Given the description of an element on the screen output the (x, y) to click on. 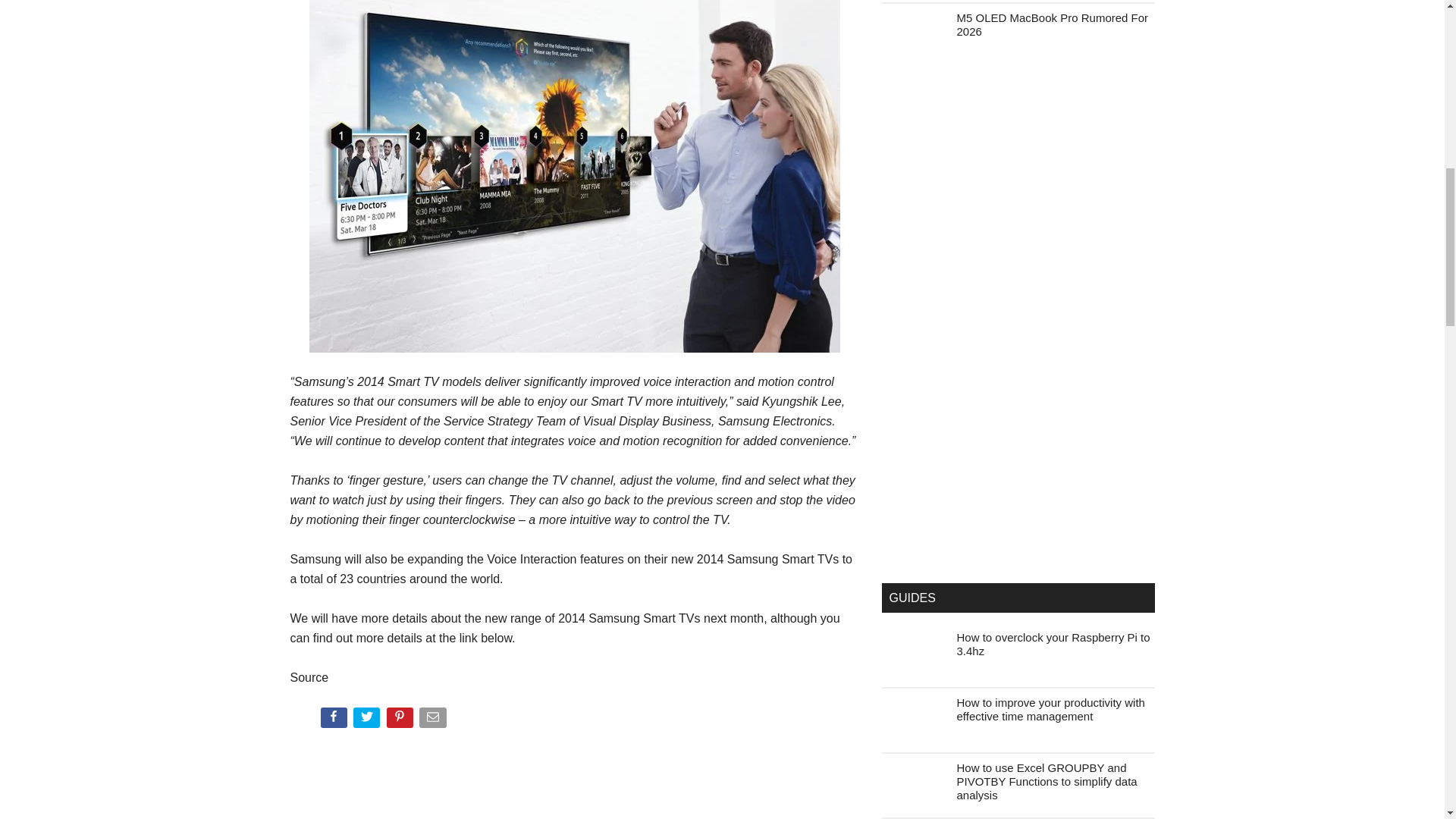
Tweet (367, 720)
Pin (401, 720)
Email (433, 720)
Share on Facebook (334, 720)
